Given the description of an element on the screen output the (x, y) to click on. 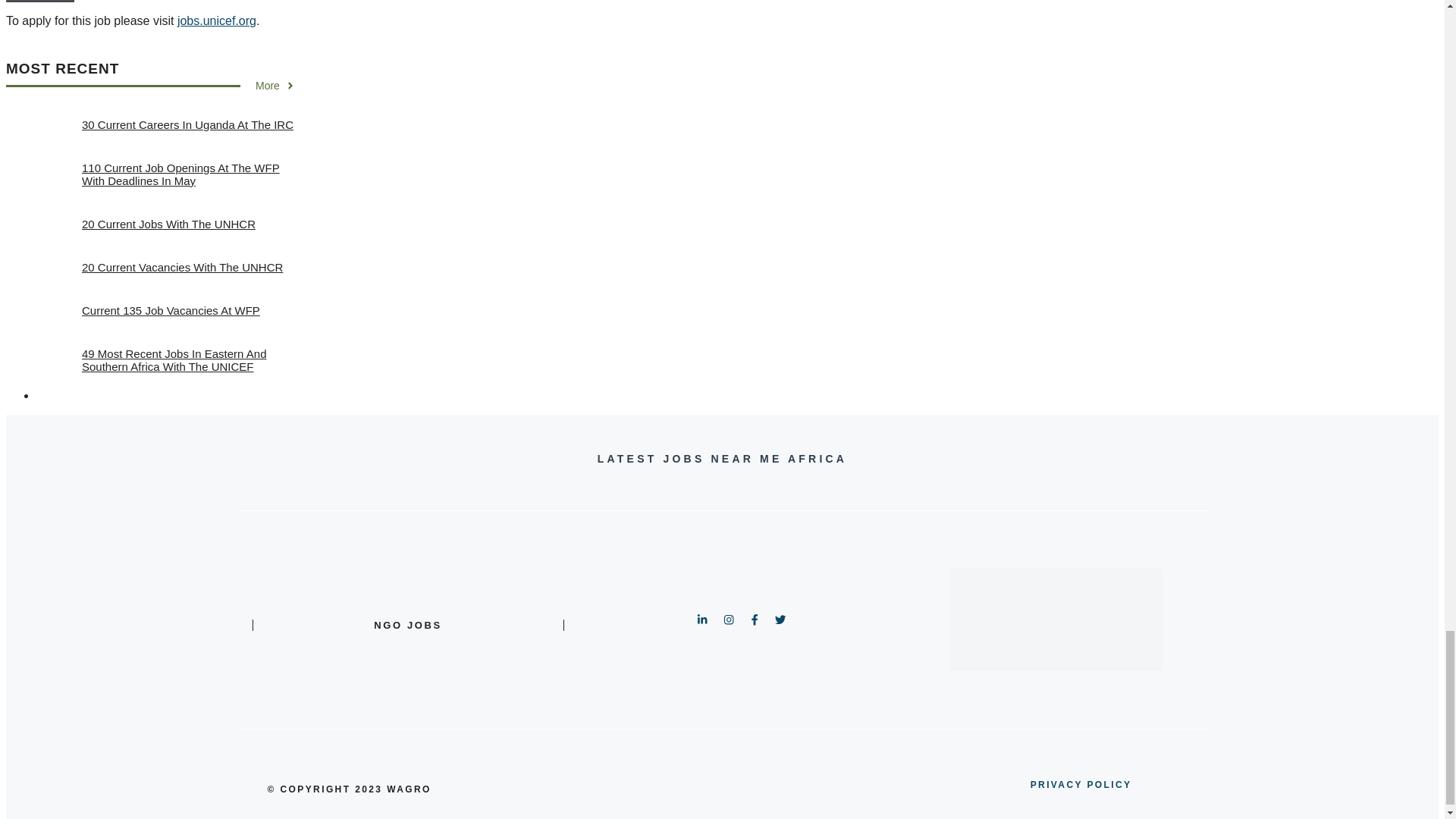
Current 135 Job Vacancies At WFP (170, 309)
110 Current Job Openings At The WFP With Deadlines In May (180, 174)
jobs.unicef.org (216, 20)
30 Current Careers In Uganda At The IRC (187, 124)
20 Current Vacancies With The UNHCR (181, 267)
Apply for job (39, 1)
PRIVACY POLICY (1081, 784)
20 Current Jobs With The UNHCR (168, 223)
More (275, 85)
